Given the description of an element on the screen output the (x, y) to click on. 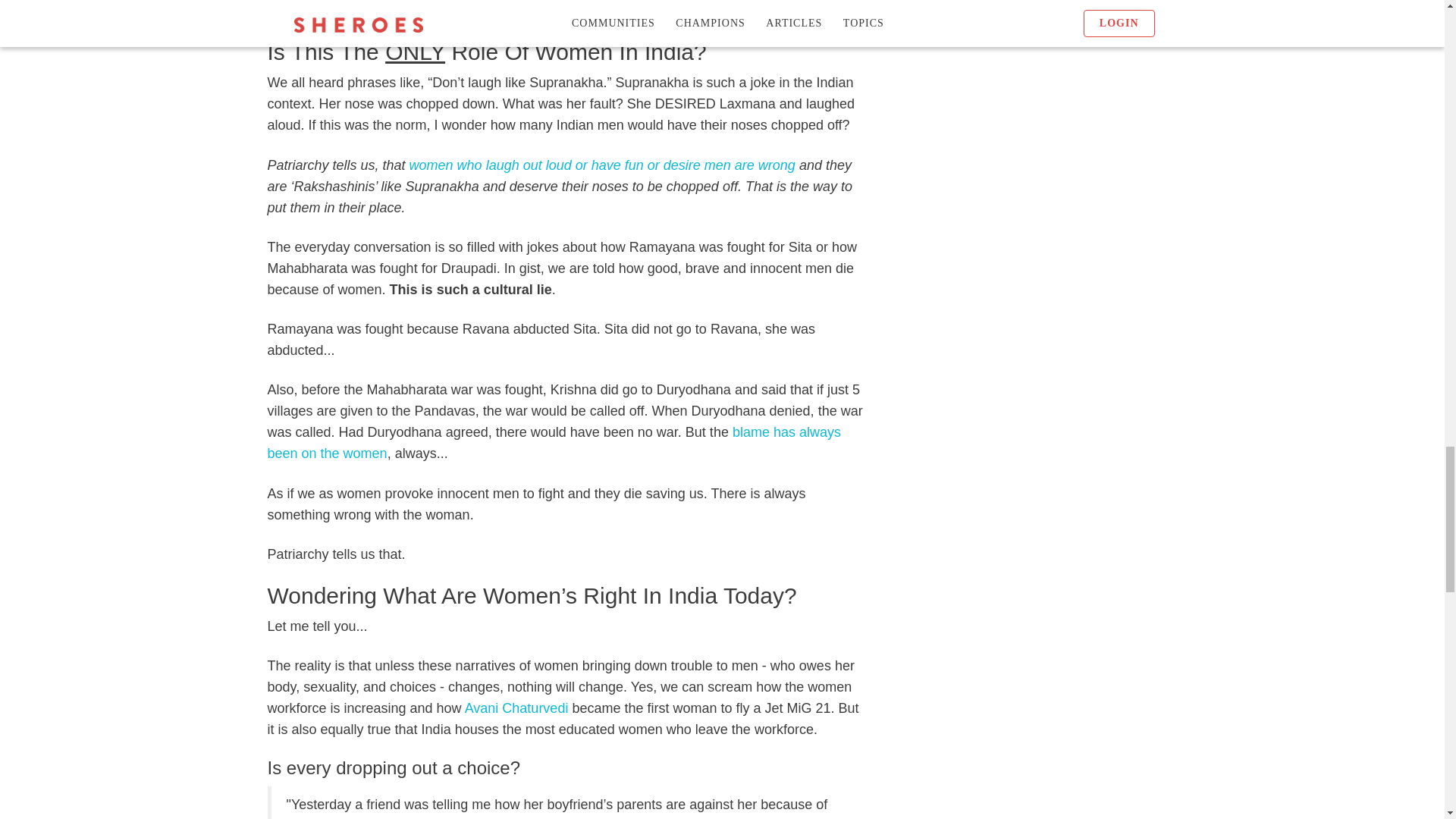
blame has always been on the women (553, 443)
women who laugh out loud or have fun or desire men are wrong (601, 165)
Avani Chaturvedi (516, 708)
